Given the description of an element on the screen output the (x, y) to click on. 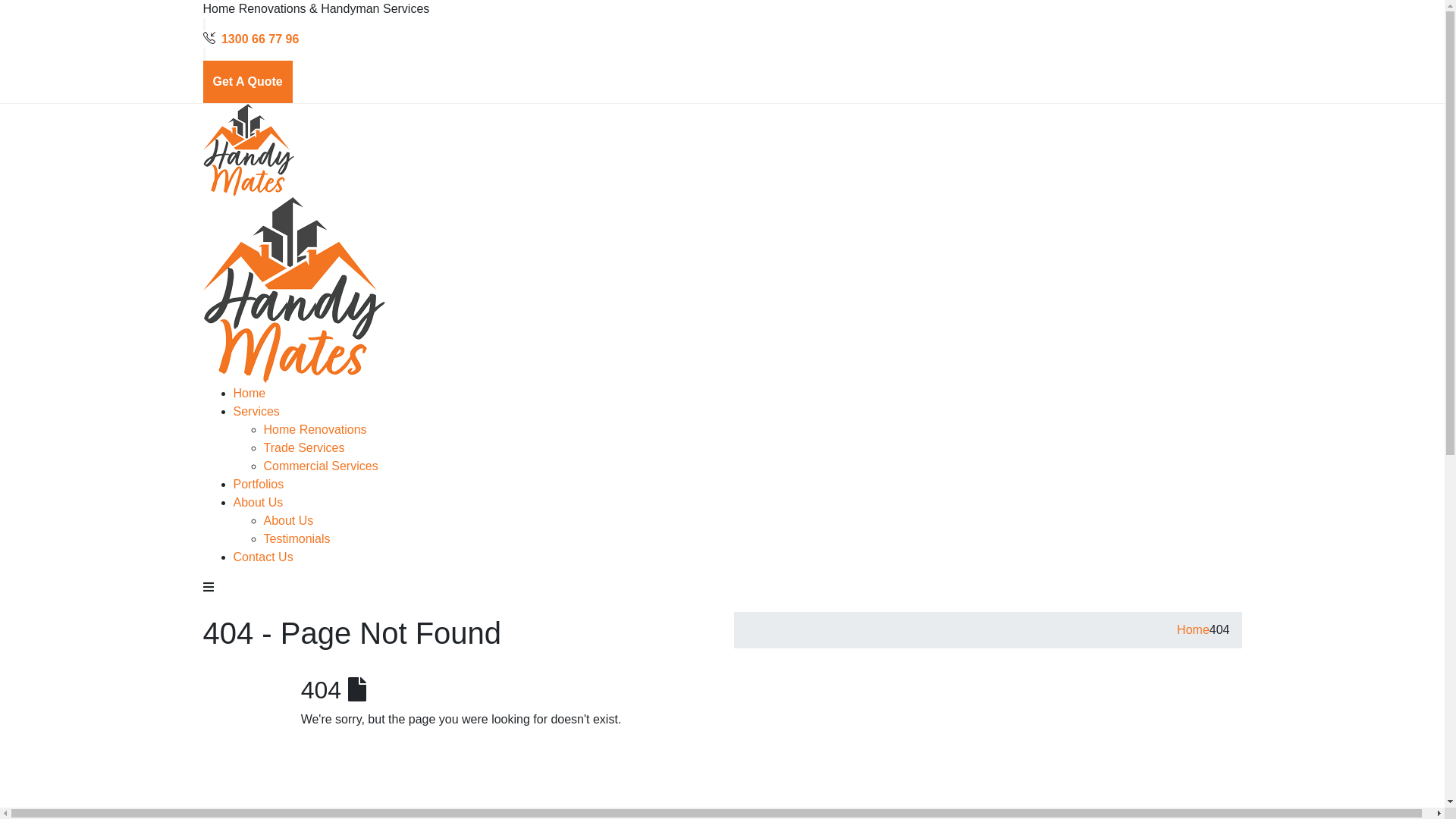
Handy Mates - Home renovations handyman services Element type: hover (294, 219)
1300 66 77 96 Element type: text (259, 38)
Contact Us Element type: text (263, 556)
Home Element type: text (249, 392)
Get A Quote Element type: text (247, 81)
Portfolios Element type: text (258, 483)
About Us Element type: text (258, 501)
Trade Services Element type: text (304, 447)
Testimonials Element type: text (296, 538)
Home Element type: text (1192, 629)
Home Renovations Element type: text (315, 429)
Services Element type: text (256, 410)
Commercial Services Element type: text (320, 465)
About Us Element type: text (288, 520)
